Given the description of an element on the screen output the (x, y) to click on. 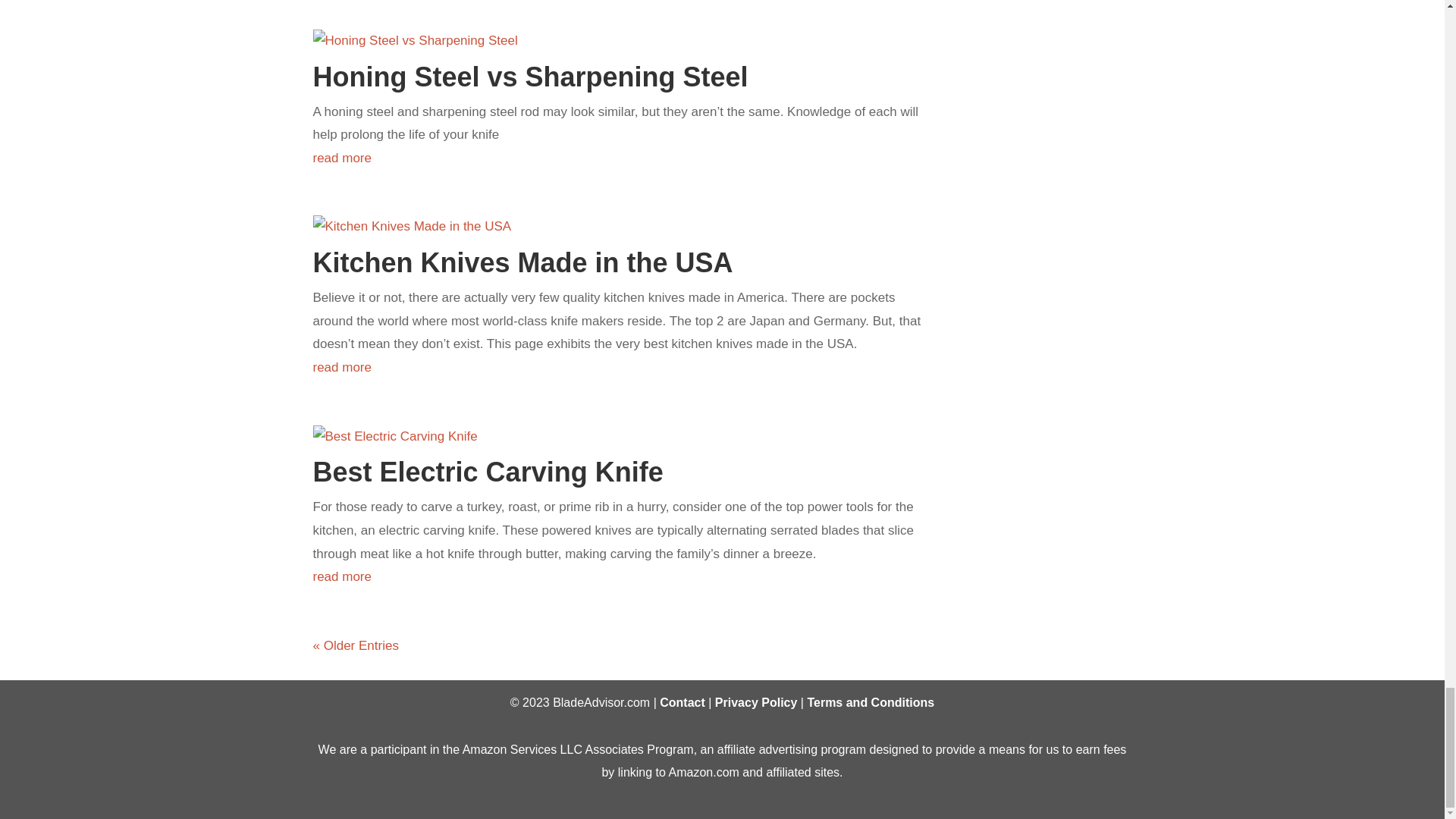
Best Electric Carving Knife (487, 471)
read more (616, 368)
Contact (681, 702)
Kitchen Knives Made in the USA (522, 262)
Honing Steel vs Sharpening Steel (530, 75)
read more (616, 576)
read more (616, 158)
